Given the description of an element on the screen output the (x, y) to click on. 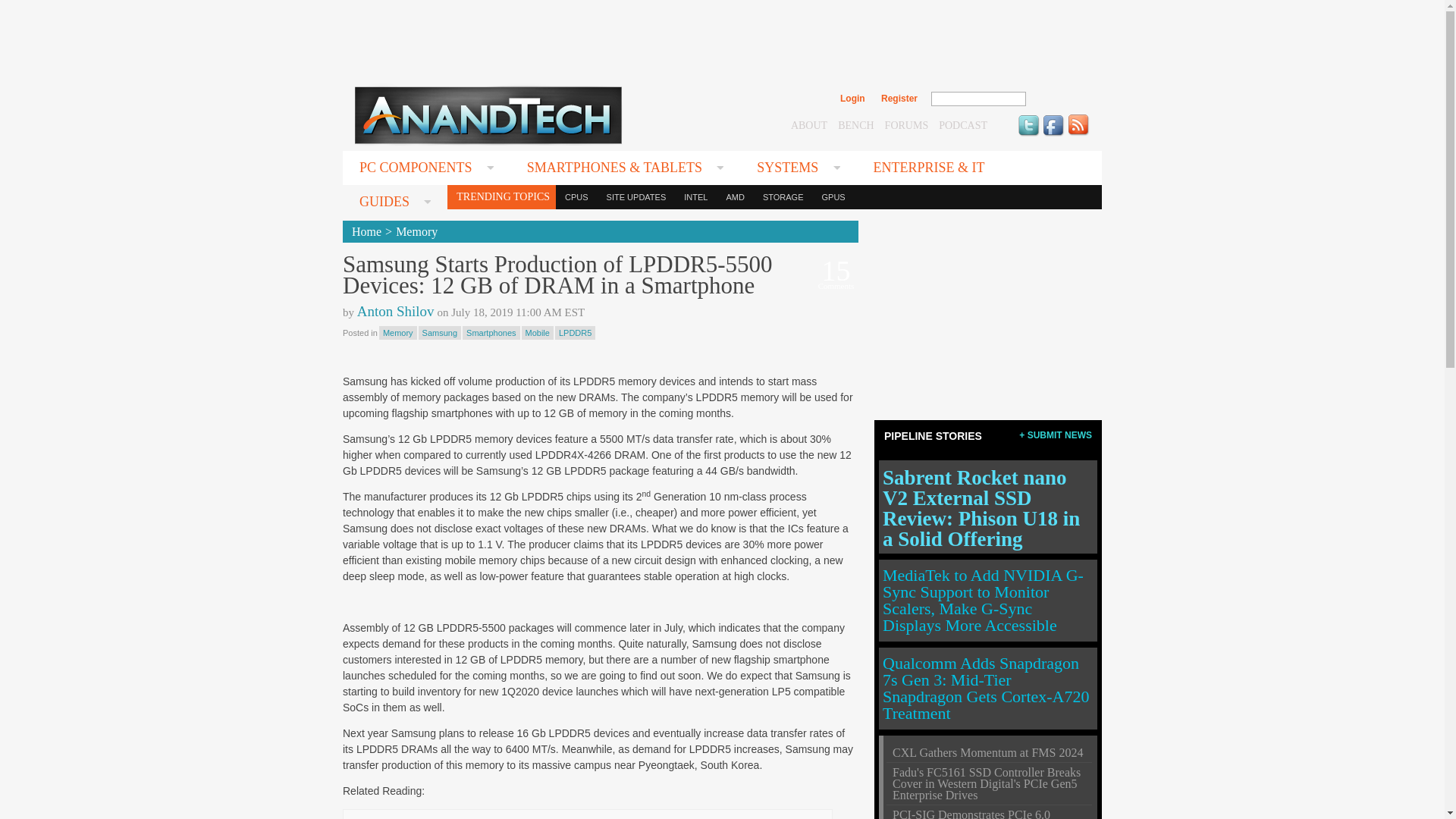
search (1059, 98)
Login (852, 98)
search (1059, 98)
BENCH (855, 125)
ABOUT (808, 125)
PODCAST (963, 125)
Register (898, 98)
FORUMS (906, 125)
search (1059, 98)
